Given the description of an element on the screen output the (x, y) to click on. 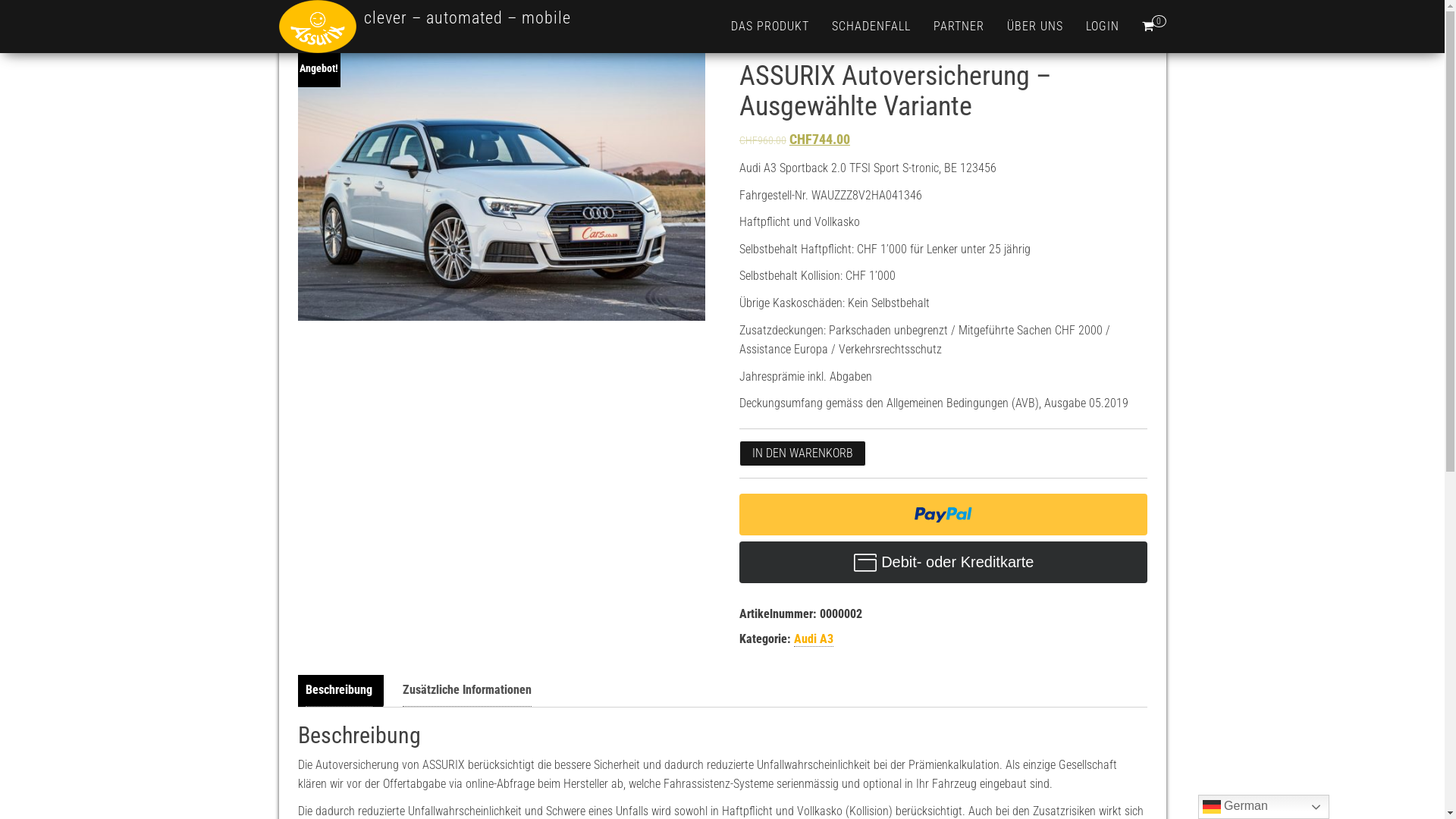
Audi_A3 Element type: hover (501, 184)
0 Element type: text (1152, 26)
IN DEN WARENKORB Element type: text (802, 453)
LOGIN Element type: text (1101, 26)
Audi A3 Element type: text (813, 638)
Beschreibung Element type: text (337, 690)
PARTNER Element type: text (958, 26)
PayPal Element type: hover (943, 514)
DAS PRODUKT Element type: text (768, 26)
PayPal Element type: hover (943, 562)
SCHADENFALL Element type: text (871, 26)
